Given the description of an element on the screen output the (x, y) to click on. 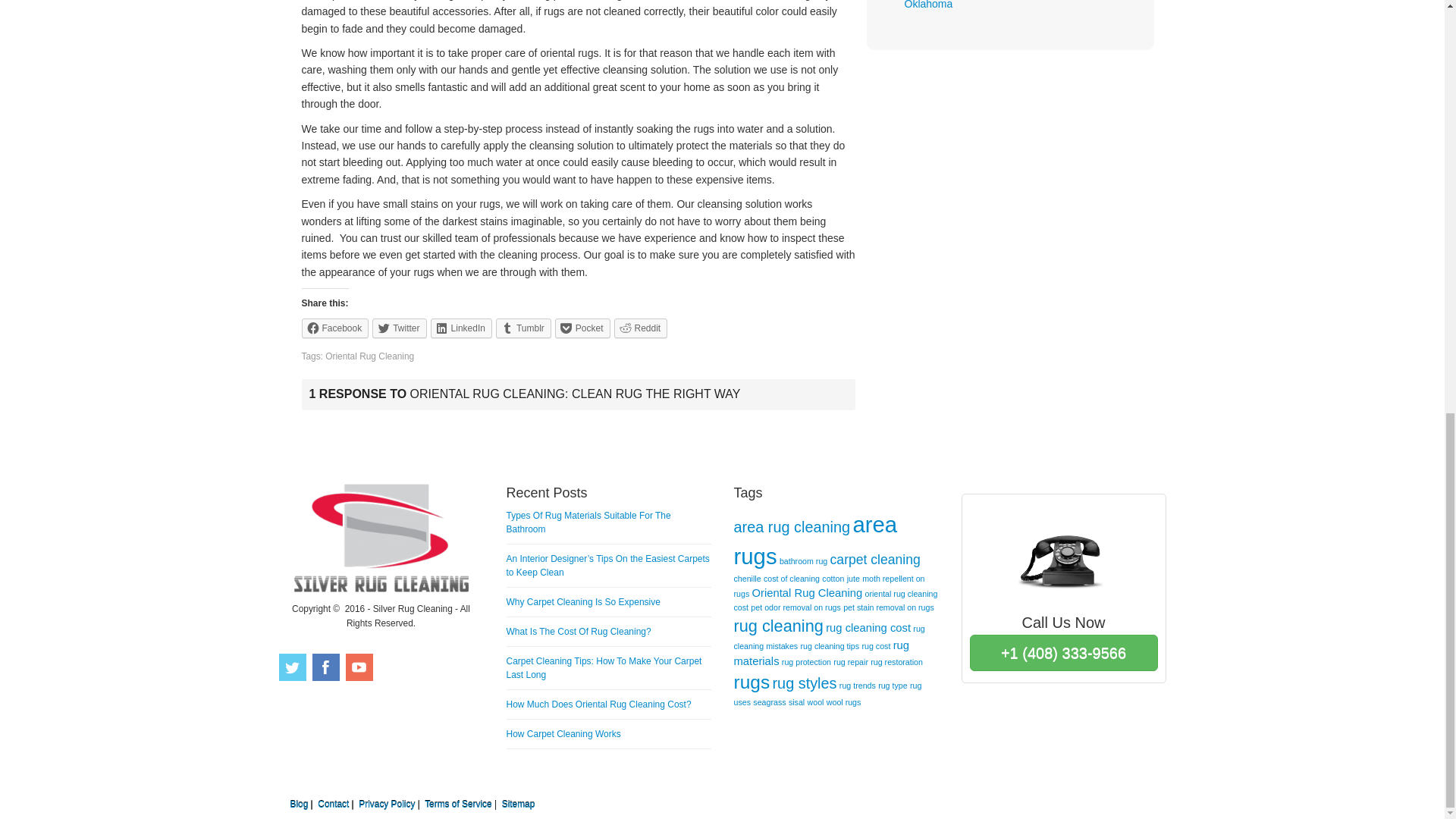
Oklahoma (928, 4)
Twitter (399, 328)
Facebook (326, 666)
Pocket (582, 328)
Facebook (335, 328)
Oriental Rug Cleaning (368, 356)
Permalink to Why Carpet Cleaning Is So Expensive (583, 602)
Youtube (359, 666)
Click to share on Pocket (582, 328)
